Given the description of an element on the screen output the (x, y) to click on. 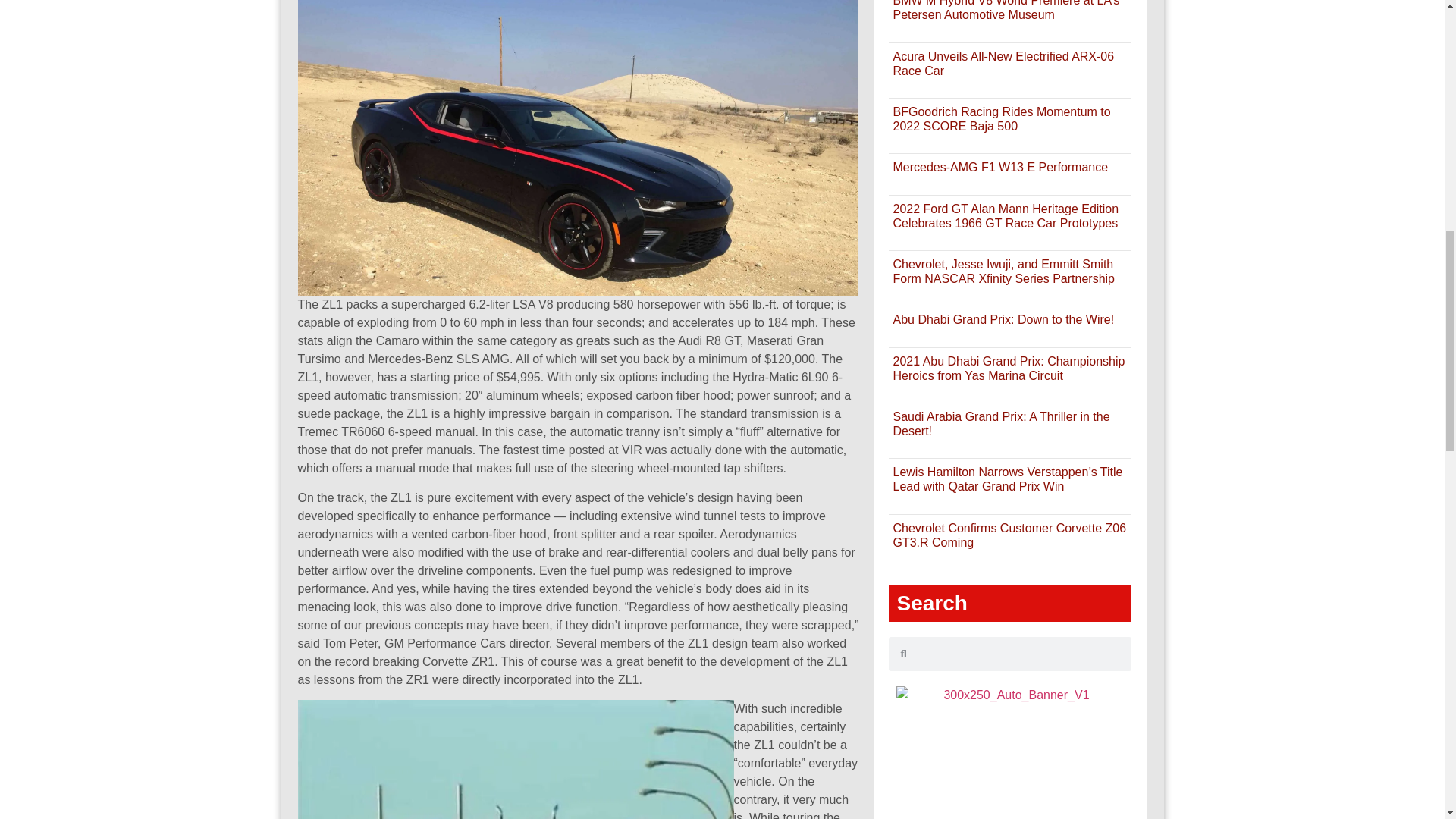
BFGoodrich Racing Rides Momentum to 2022 SCORE Baja 500 (1000, 118)
Mercedes-AMG F1 W13 E Performance (1000, 166)
Abu Dhabi Grand Prix: Down to the Wire! (1002, 318)
Saudi Arabia Grand Prix: A Thriller in the Desert! (1000, 423)
Acura Unveils All-New Electrified ARX-06 Race Car (1002, 62)
Chevrolet Confirms Customer Corvette Z06 GT3.R Coming (1008, 534)
